Given the description of an element on the screen output the (x, y) to click on. 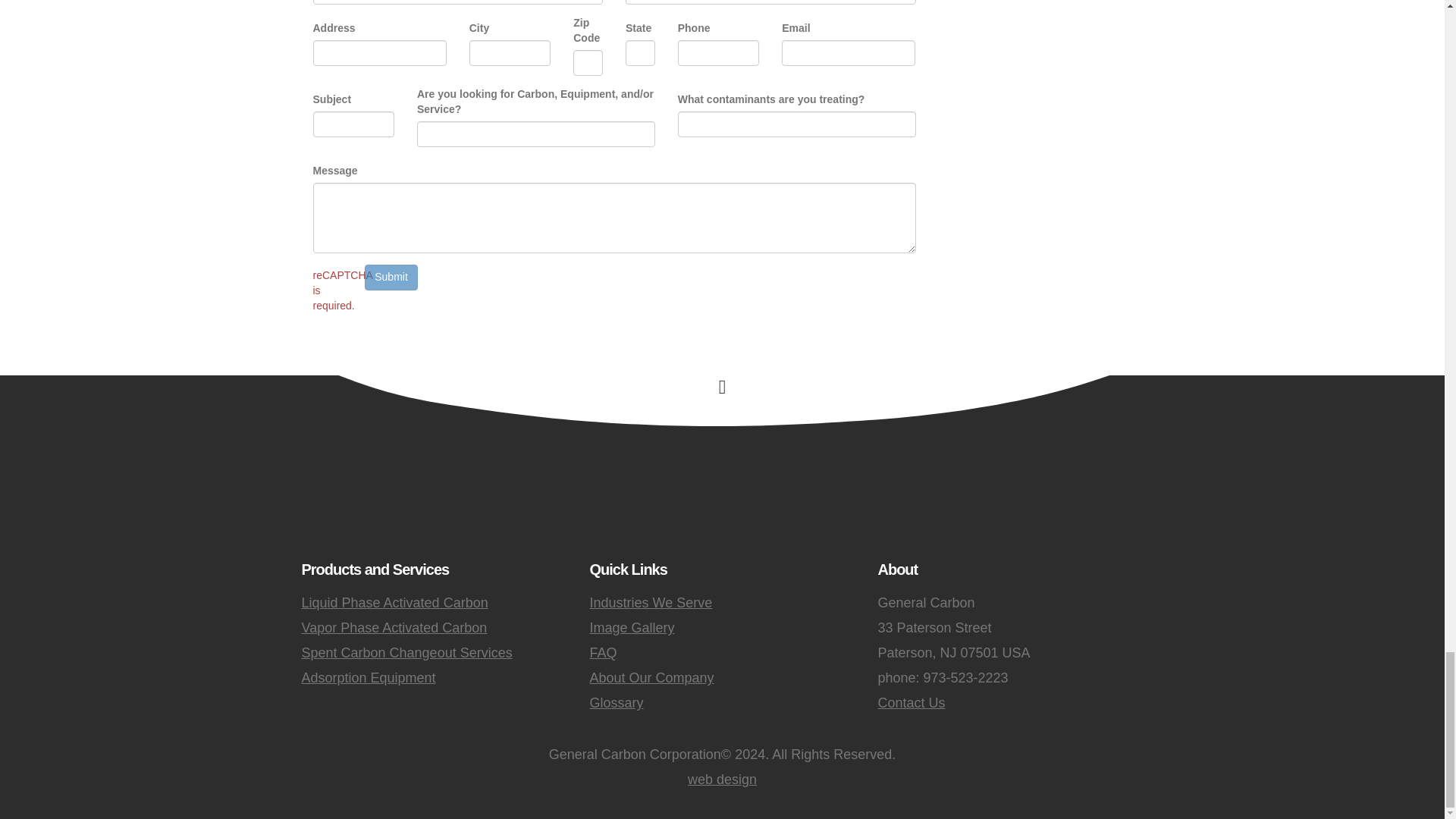
web designers in new jersey (722, 779)
